Given the description of an element on the screen output the (x, y) to click on. 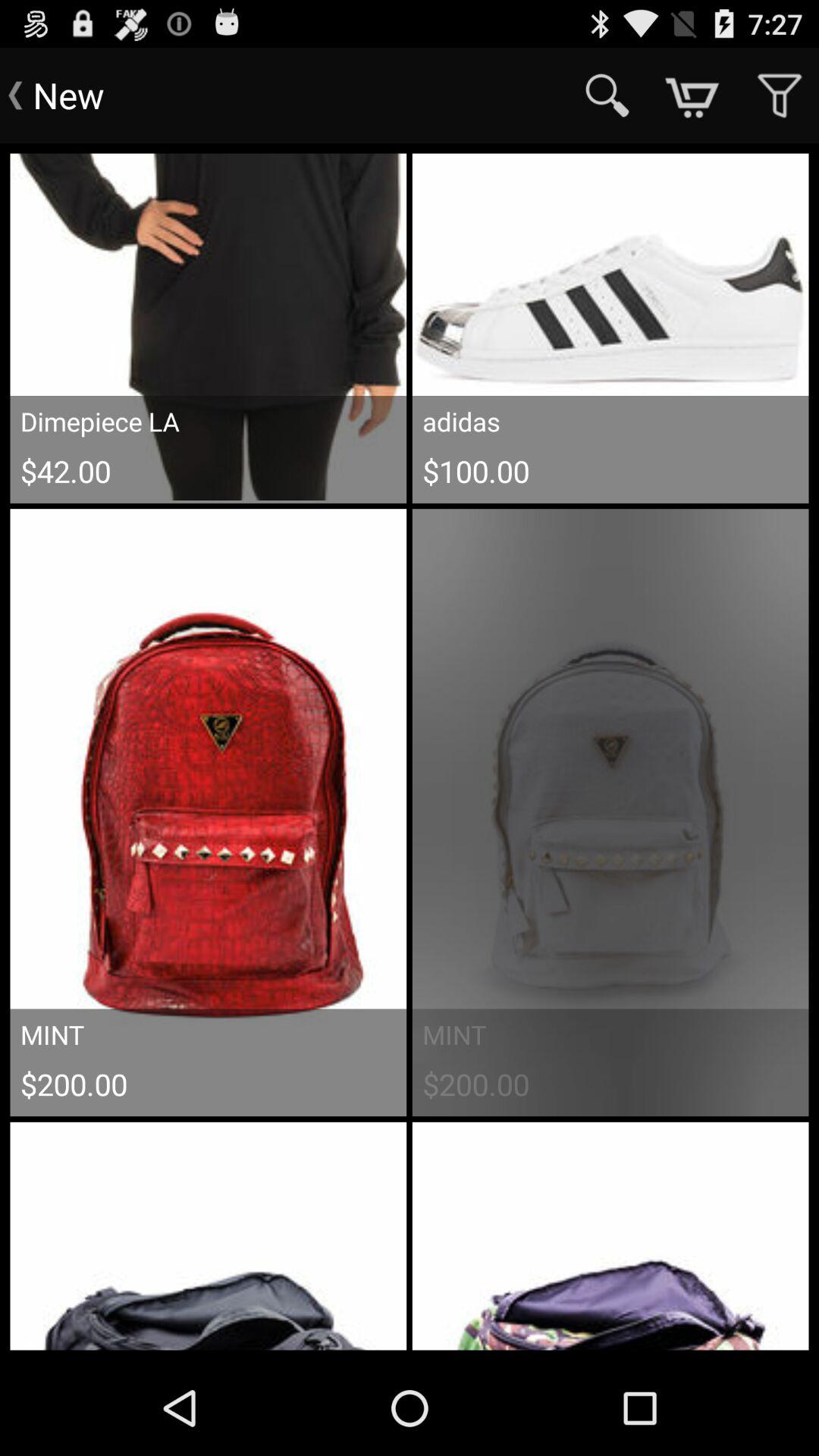
click on the shoe image (610, 327)
click on the search icon (607, 95)
